Given the description of an element on the screen output the (x, y) to click on. 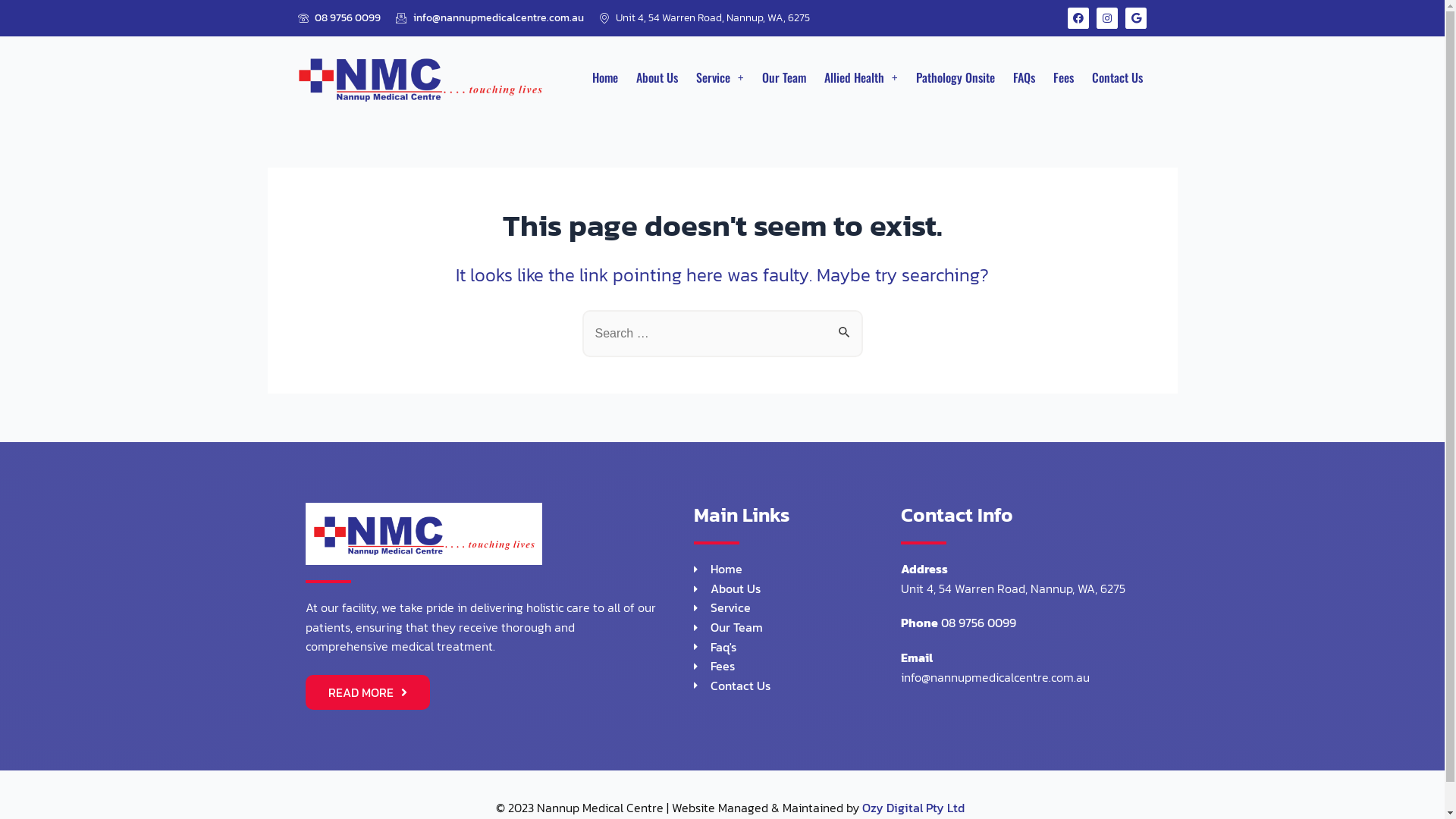
08 9756 0099 Element type: text (338, 18)
Contact Us Element type: text (796, 686)
Faq's Element type: text (796, 646)
About Us Element type: text (657, 77)
Service Element type: text (720, 77)
Fees Element type: text (1063, 77)
Fees Element type: text (796, 666)
info@nannupmedicalcentre.com.au Element type: text (489, 18)
READ MORE Element type: text (366, 691)
Our Team Element type: text (796, 627)
About Us Element type: text (796, 589)
Service Element type: text (796, 608)
Contact Us Element type: text (1116, 77)
Allied Health Element type: text (860, 77)
08 9756 0099 Element type: text (978, 622)
FAQs Element type: text (1024, 77)
Our Team Element type: text (784, 77)
Ozy Digital Pty Ltd Element type: text (912, 807)
Home Element type: text (605, 77)
Pathology Onsite Element type: text (955, 77)
Search Element type: text (845, 326)
Home Element type: text (796, 569)
